Given the description of an element on the screen output the (x, y) to click on. 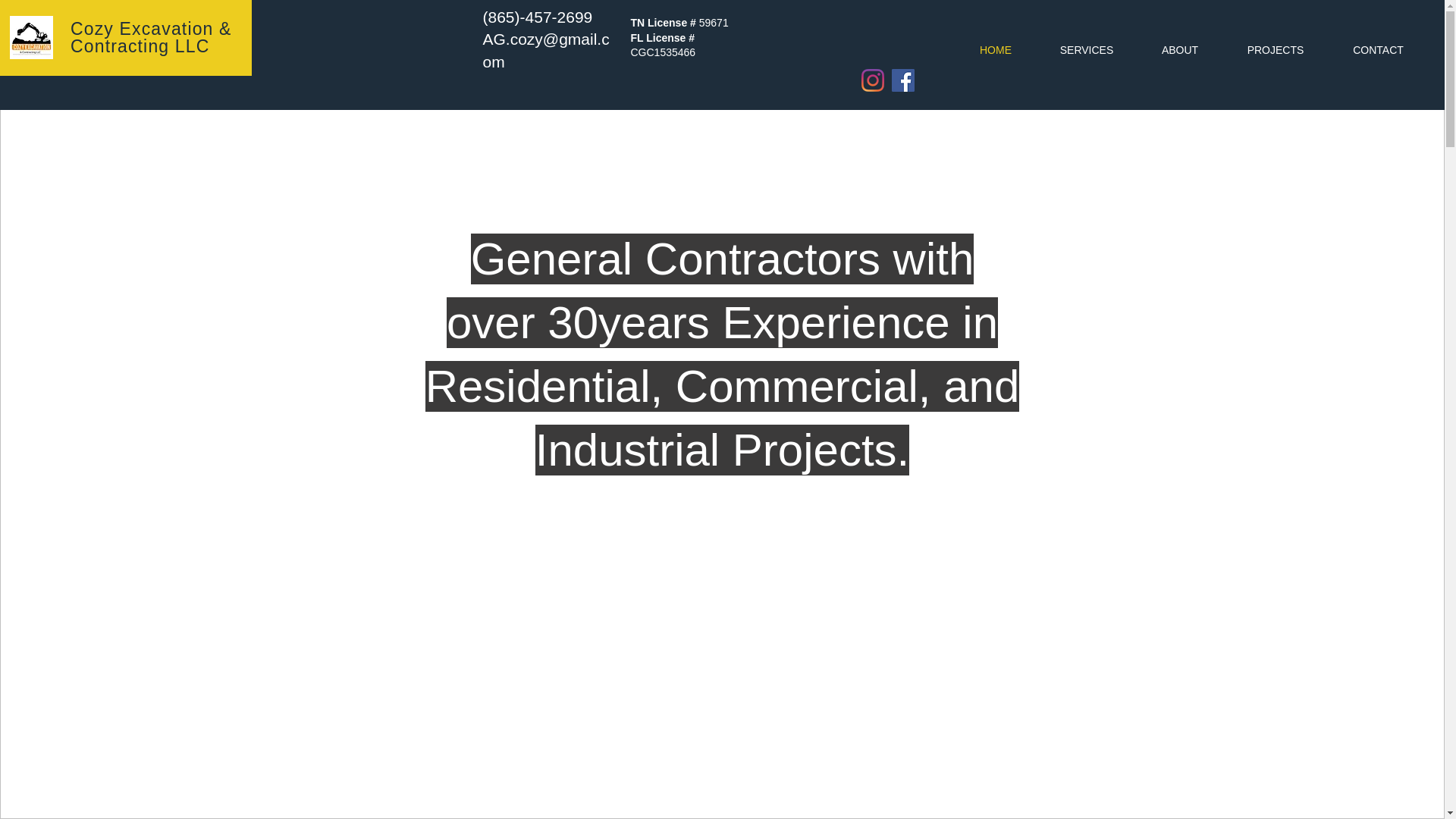
HOME (994, 50)
SERVICES (1085, 50)
CONTACT (1377, 50)
ABOUT (1179, 50)
PROJECTS (1275, 50)
